Given the description of an element on the screen output the (x, y) to click on. 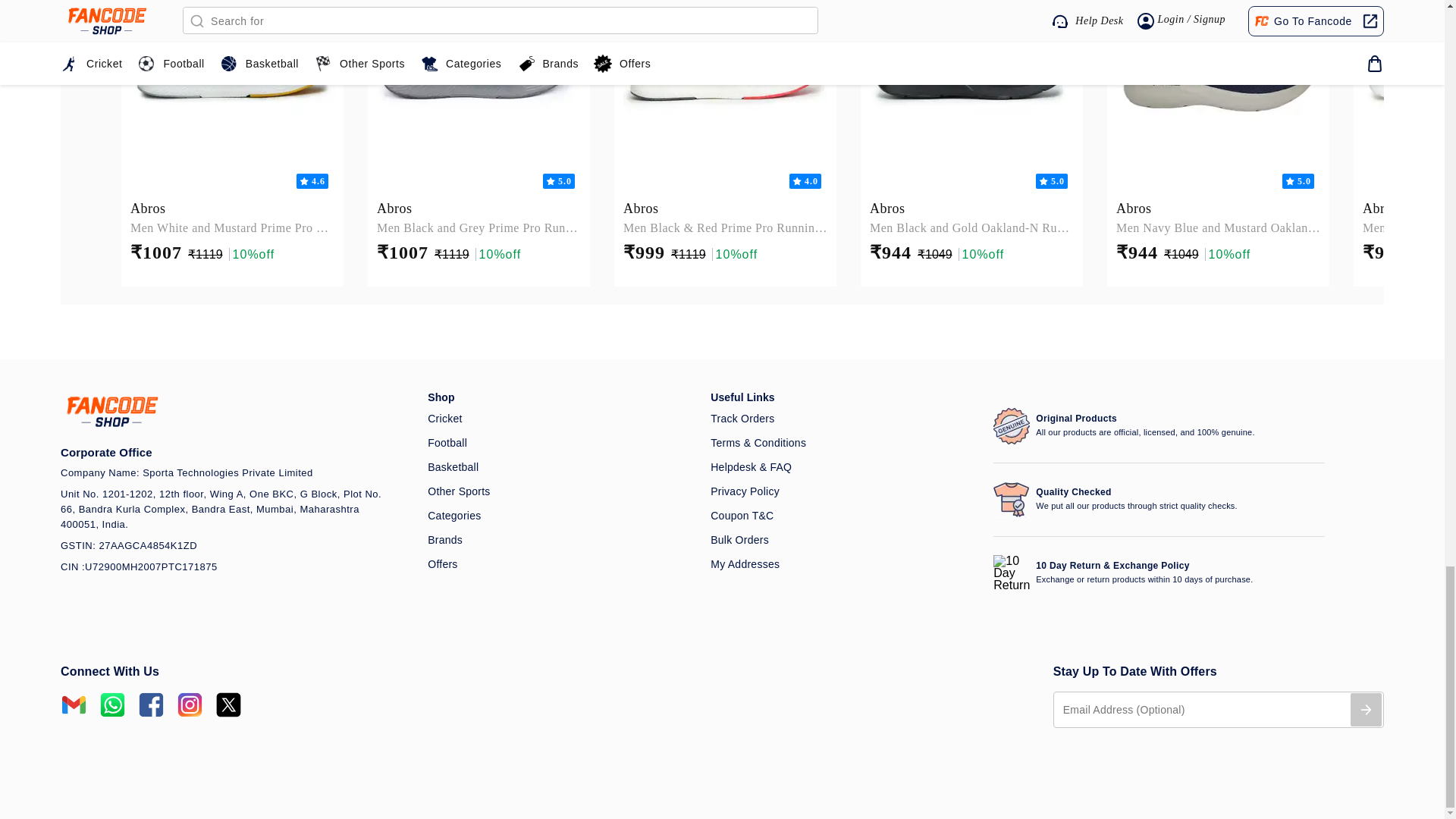
Football (560, 442)
Track Orders (842, 418)
Privacy Policy (842, 491)
Categories (560, 515)
My Addresses (842, 563)
Brands (560, 539)
Bulk Orders (842, 539)
Offers (560, 563)
Cricket (560, 418)
Basketball (560, 467)
Other Sports (560, 491)
